Given the description of an element on the screen output the (x, y) to click on. 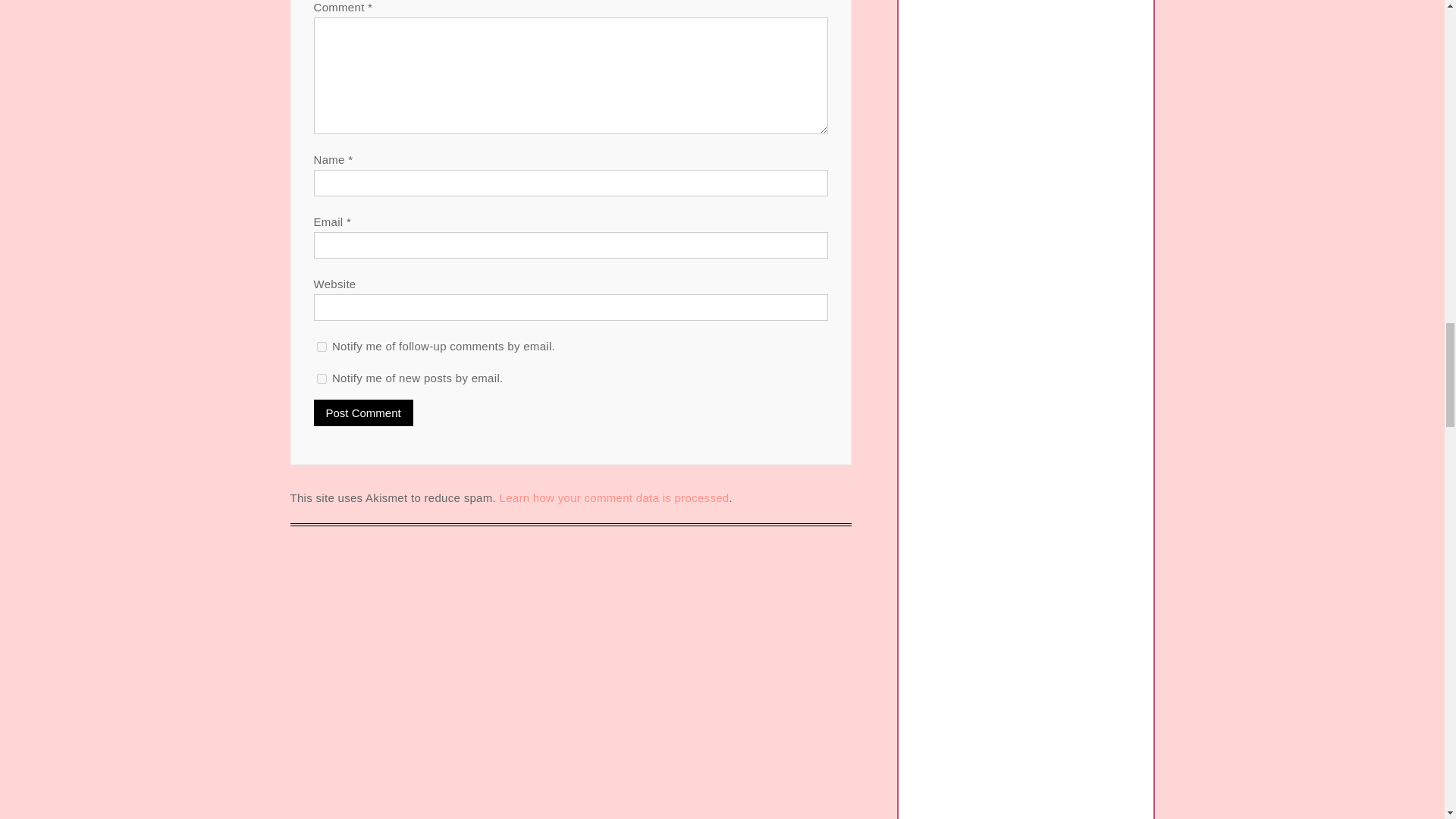
Post Comment (363, 412)
subscribe (321, 347)
subscribe (321, 378)
